Given the description of an element on the screen output the (x, y) to click on. 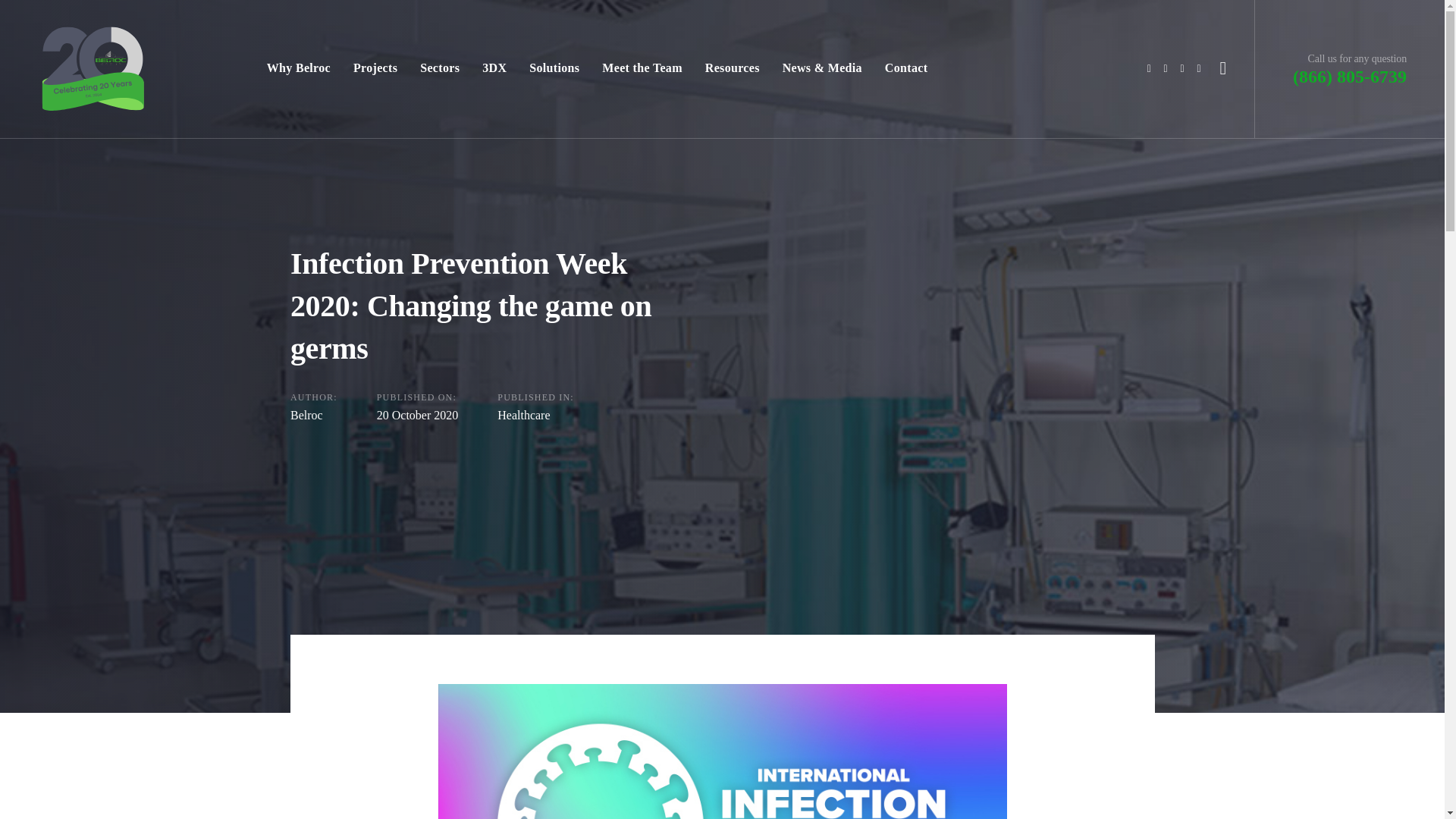
Healthcare (523, 414)
20 October 2020 (416, 414)
Belroc (305, 414)
Posts by Belroc (305, 414)
banner01 (722, 751)
